Given the description of an element on the screen output the (x, y) to click on. 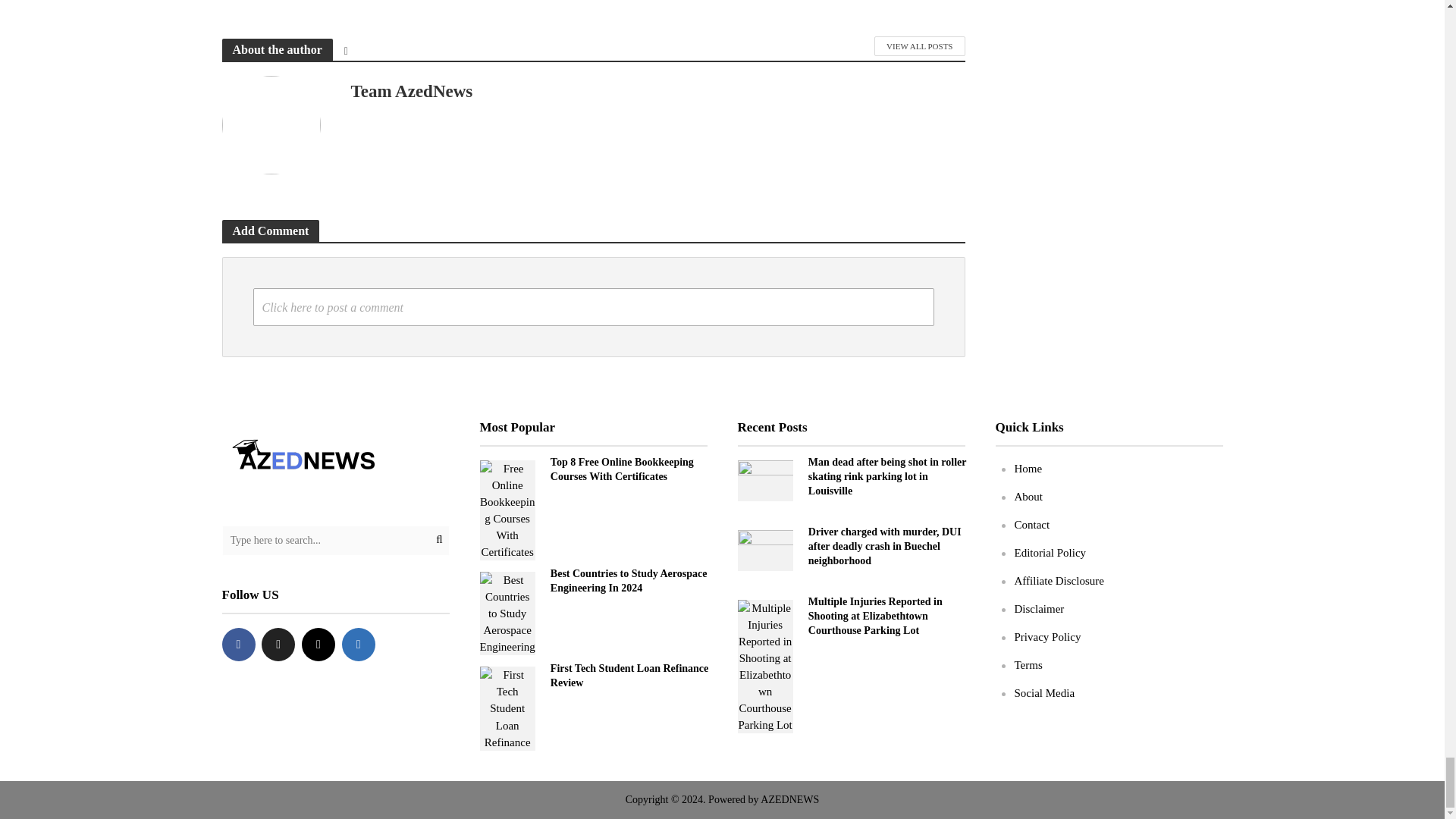
Instagram (317, 644)
Linkedin (358, 644)
Facebook (237, 644)
